Given the description of an element on the screen output the (x, y) to click on. 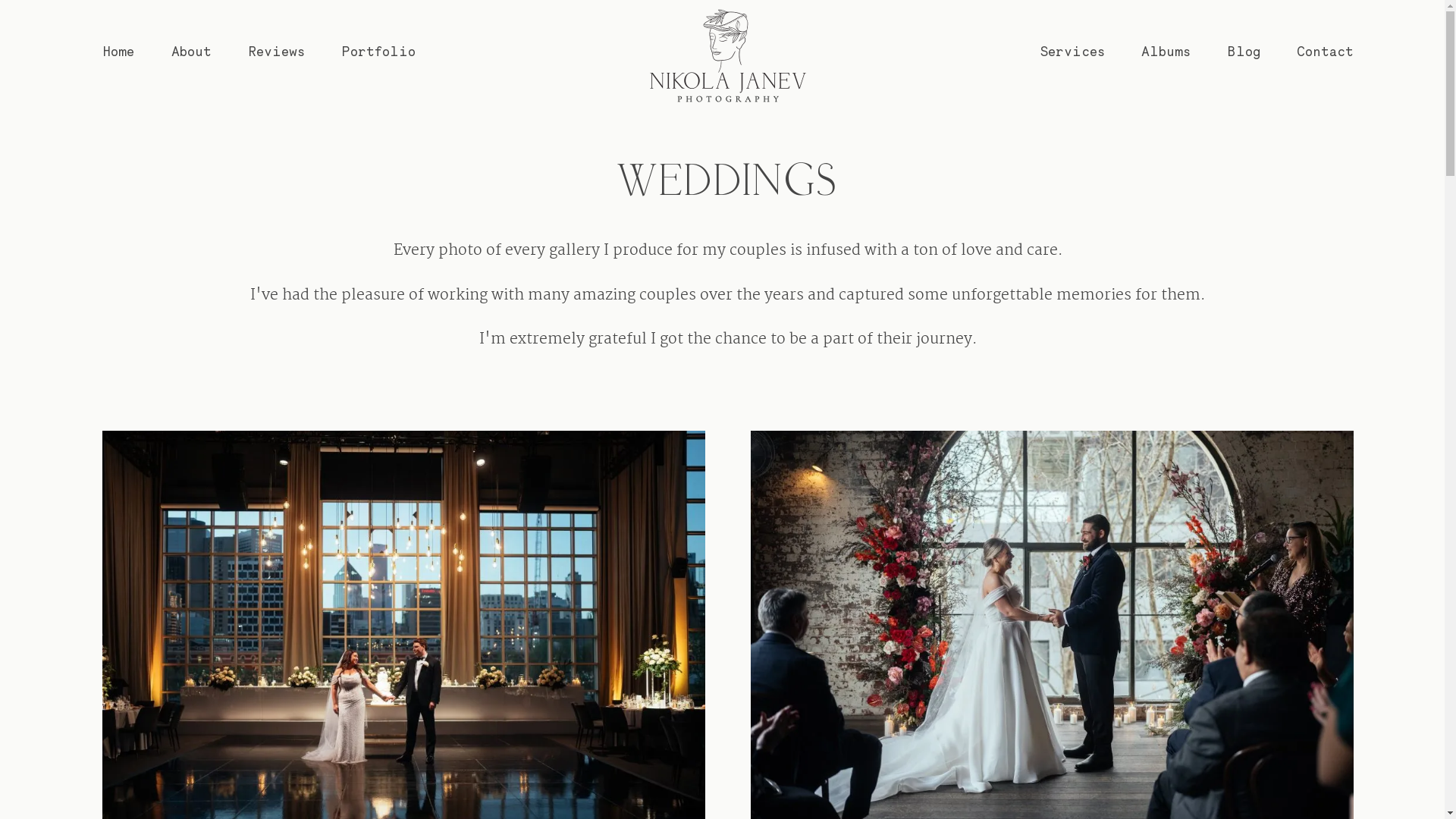
Contact Element type: text (1324, 51)
Albums Element type: text (1166, 51)
About Element type: text (191, 51)
Blog Element type: text (1244, 51)
Reviews Element type: text (276, 51)
Home Element type: text (118, 51)
Services Element type: text (1072, 51)
Portfolio Element type: text (378, 51)
